Given the description of an element on the screen output the (x, y) to click on. 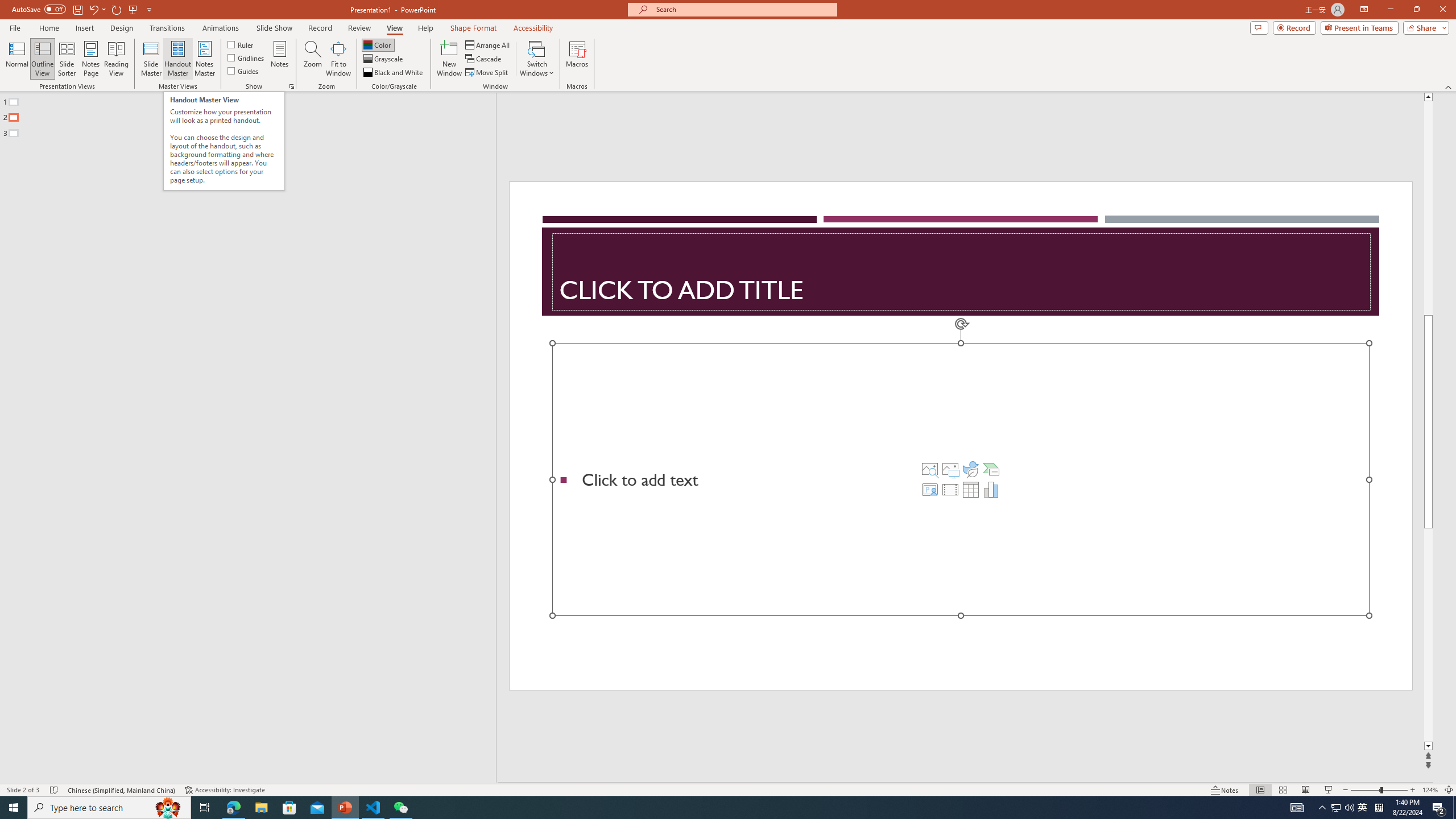
Move Split (487, 72)
Ruler (241, 44)
Notes Master (204, 58)
Gridlines (246, 56)
